Given the description of an element on the screen output the (x, y) to click on. 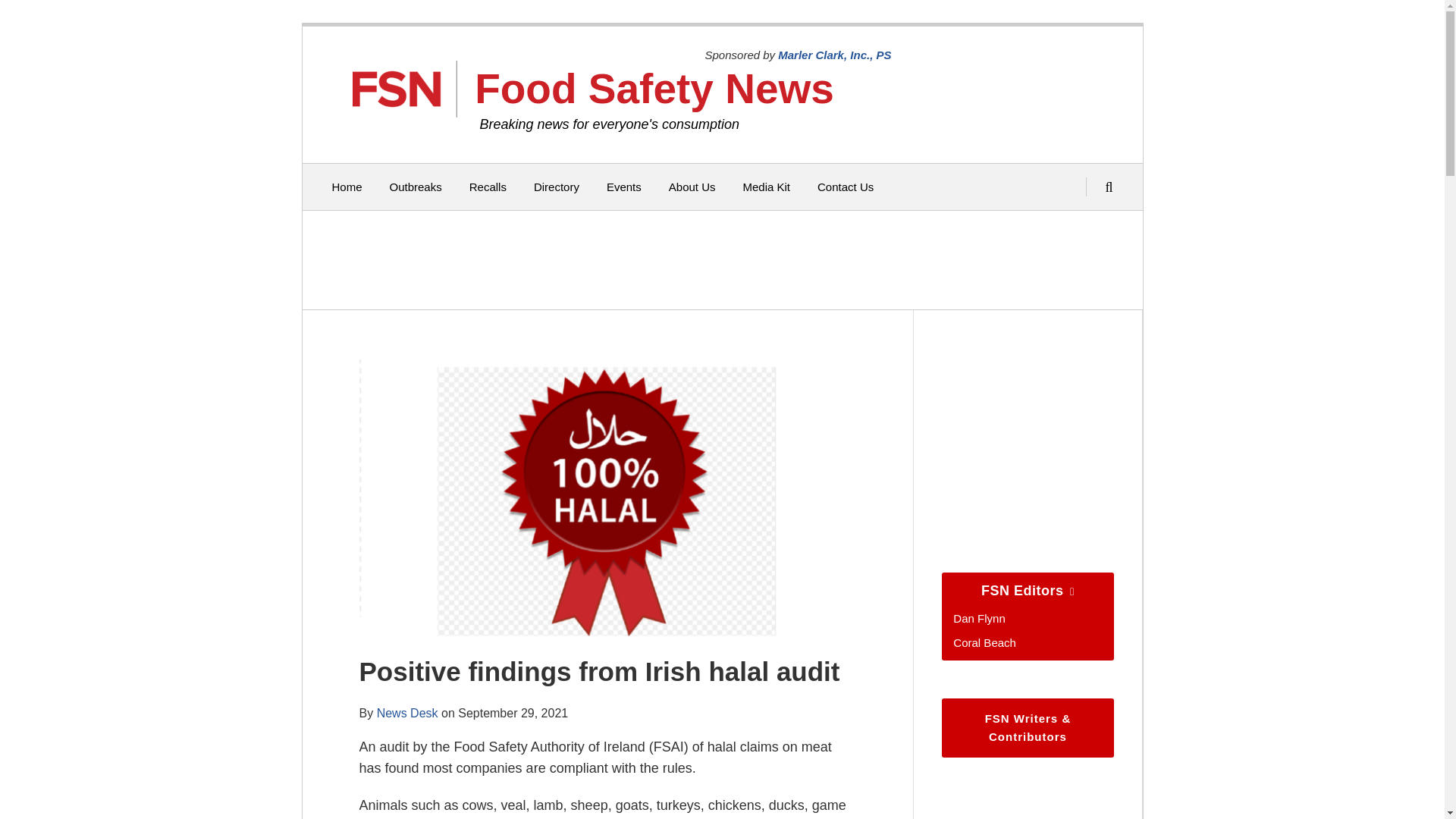
About Us (692, 187)
News Desk (407, 712)
Events (624, 187)
Outbreaks (416, 187)
Contact Us (844, 187)
Directory (556, 187)
Marler Clark, Inc., PS (834, 54)
Food Safety News (654, 88)
Media Kit (766, 187)
Home (346, 187)
